Given the description of an element on the screen output the (x, y) to click on. 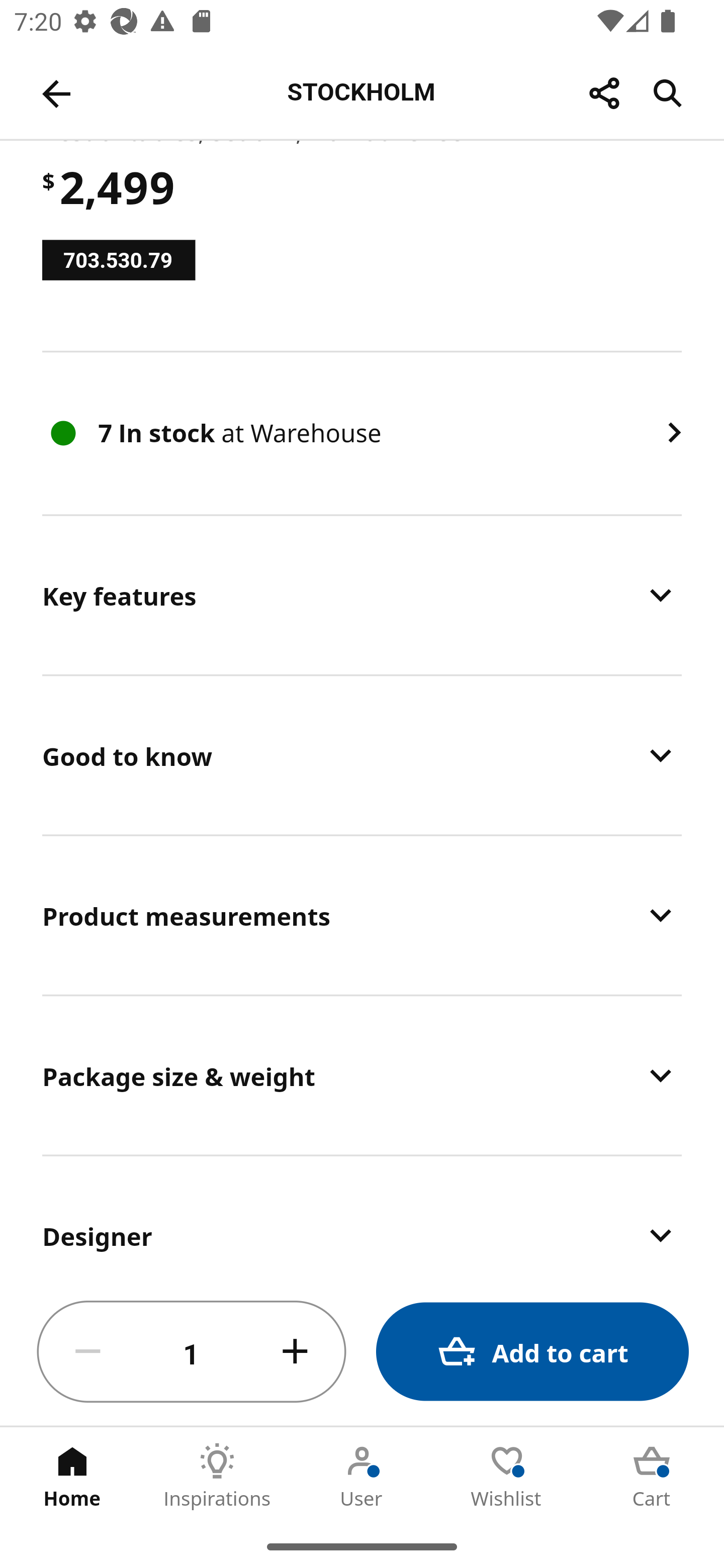
7 In stock at Warehouse (361, 433)
Key features (361, 594)
Good to know (361, 754)
Product measurements (361, 914)
Package size & weight (361, 1075)
Designer (361, 1217)
Add to cart (531, 1352)
1 (191, 1352)
Home
Tab 1 of 5 (72, 1476)
Inspirations
Tab 2 of 5 (216, 1476)
User
Tab 3 of 5 (361, 1476)
Wishlist
Tab 4 of 5 (506, 1476)
Cart
Tab 5 of 5 (651, 1476)
